Given the description of an element on the screen output the (x, y) to click on. 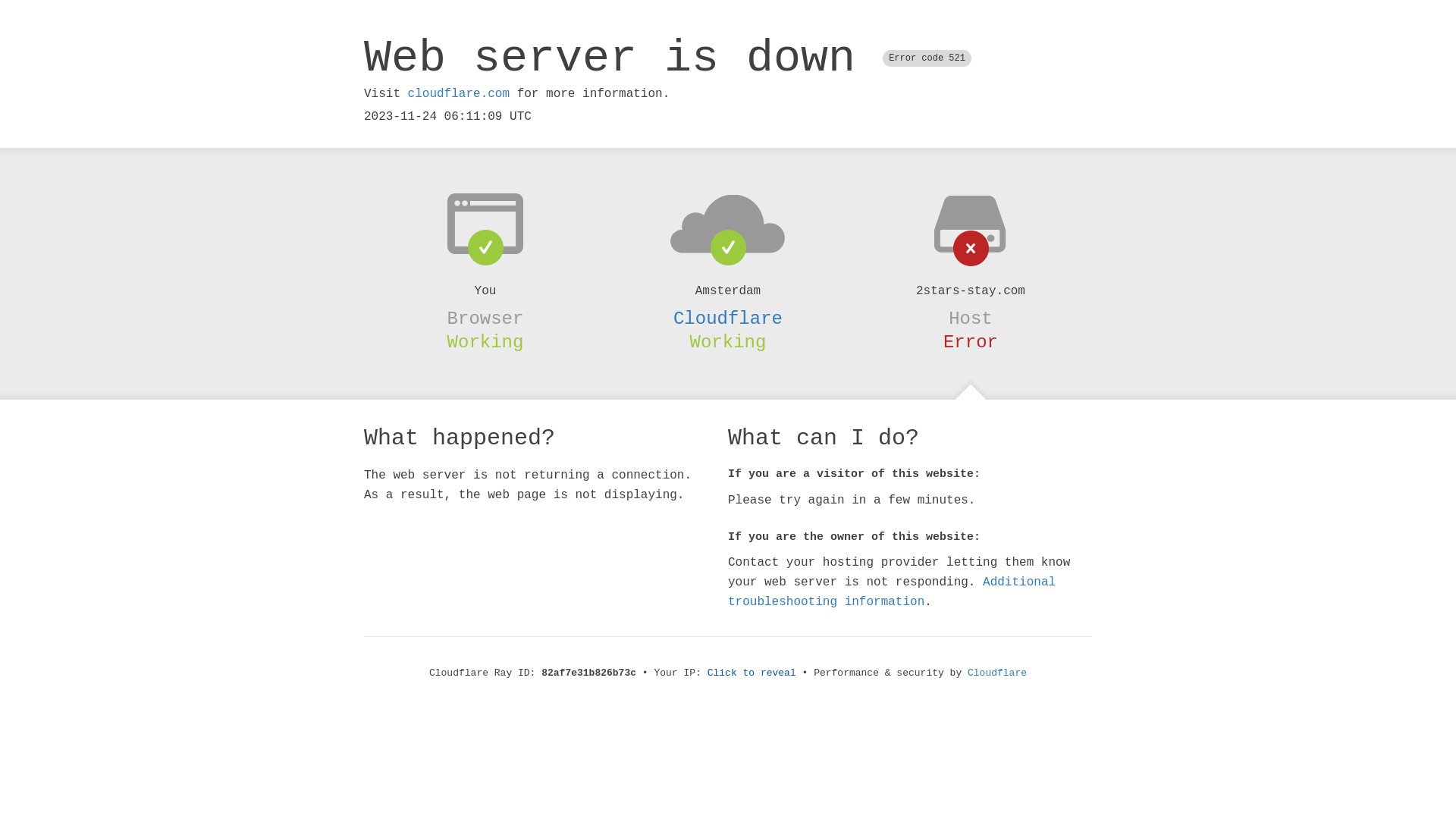
Cloudflare Element type: text (996, 672)
Additional troubleshooting information Element type: text (891, 591)
Click to reveal Element type: text (751, 672)
Cloudflare Element type: text (727, 318)
cloudflare.com Element type: text (458, 93)
